Given the description of an element on the screen output the (x, y) to click on. 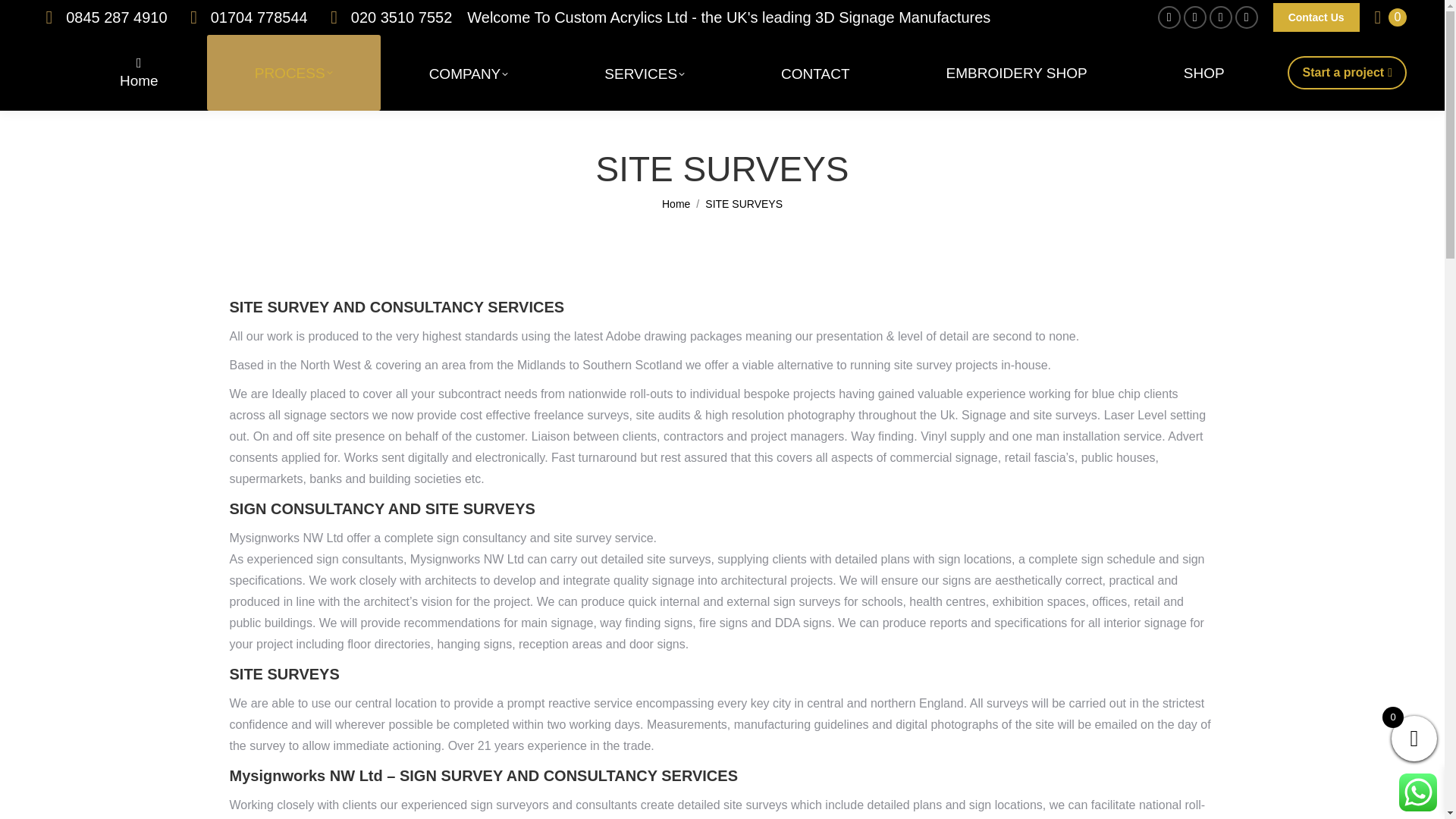
COMPANY (468, 72)
PROCESS (293, 72)
X page opens in new window (1220, 16)
Facebook page opens in new window (1168, 16)
Facebook page opens in new window (1168, 16)
Instagram page opens in new window (1195, 16)
SERVICES (644, 72)
Mail page opens in new window (1245, 16)
Contact Us (1315, 17)
X page opens in new window (1220, 16)
Mail page opens in new window (1245, 16)
 0 (1390, 17)
Instagram page opens in new window (1195, 16)
Home (676, 203)
Home (138, 72)
